Given the description of an element on the screen output the (x, y) to click on. 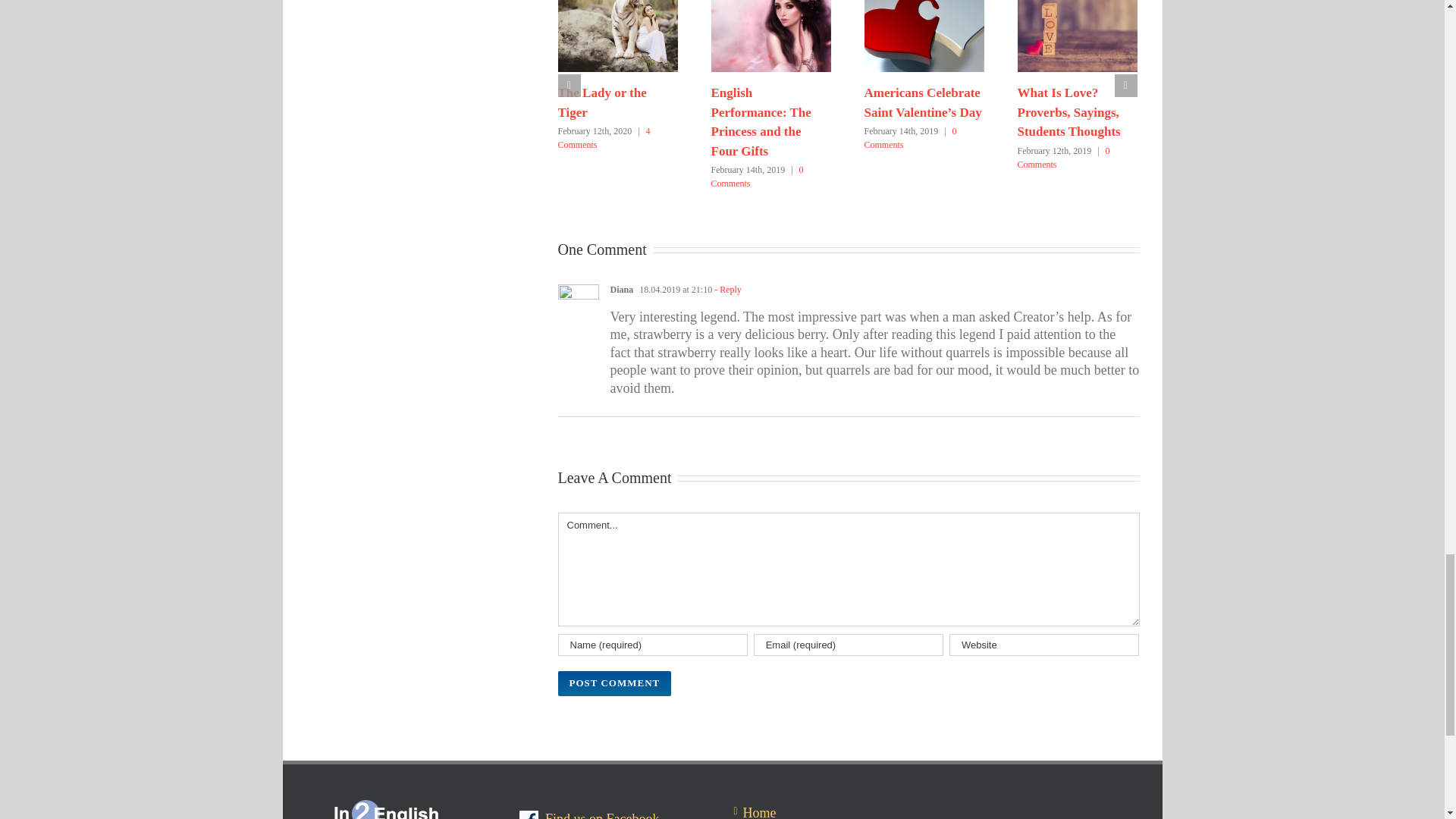
Post Comment (614, 683)
